Given the description of an element on the screen output the (x, y) to click on. 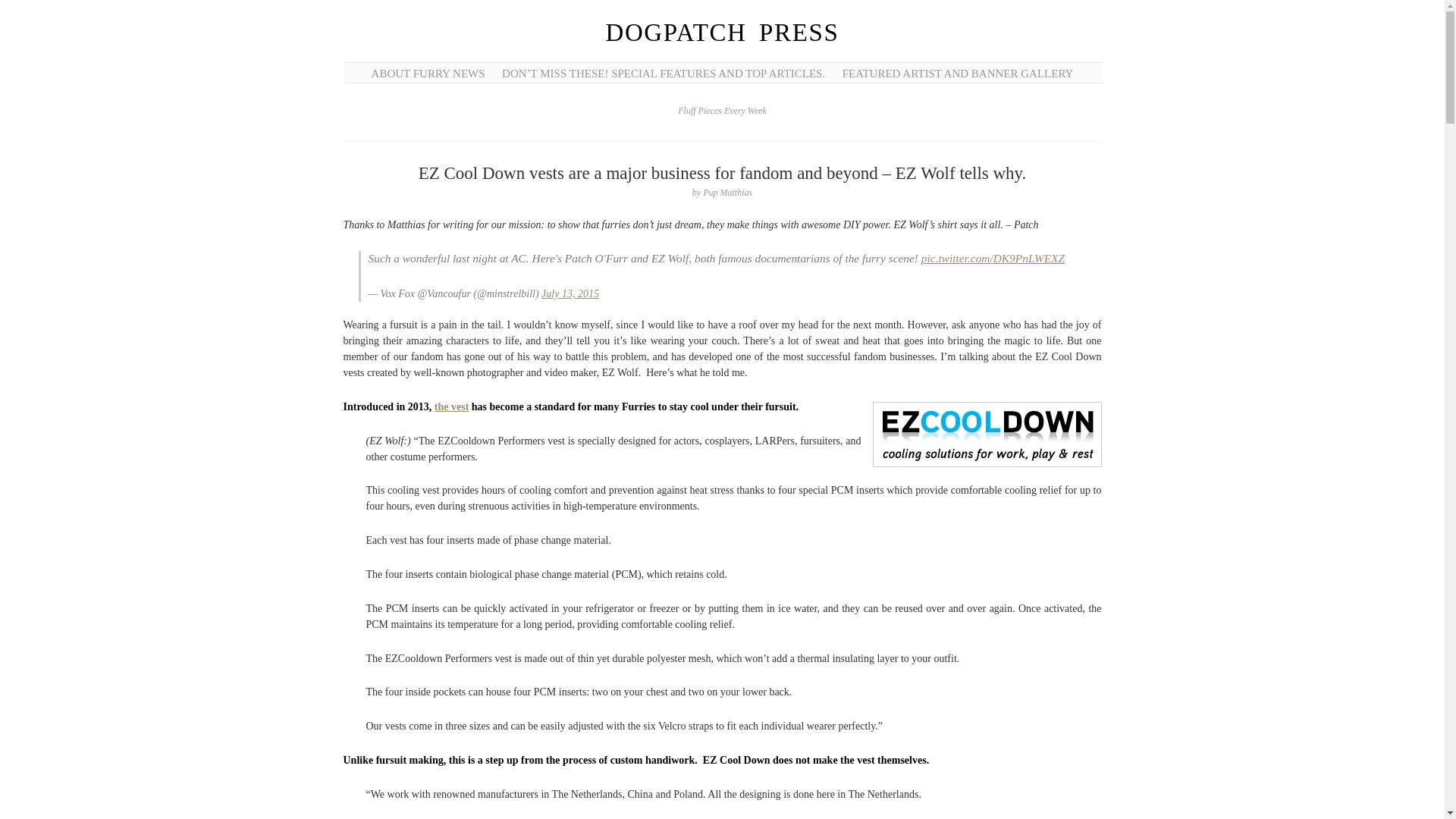
Home (721, 31)
FEATURED ARTIST AND BANNER GALLERY (958, 73)
July 13, 2015 (569, 293)
ABOUT FURRY NEWS (427, 73)
the vest (450, 406)
DOGPATCH PRESS (721, 31)
